Given the description of an element on the screen output the (x, y) to click on. 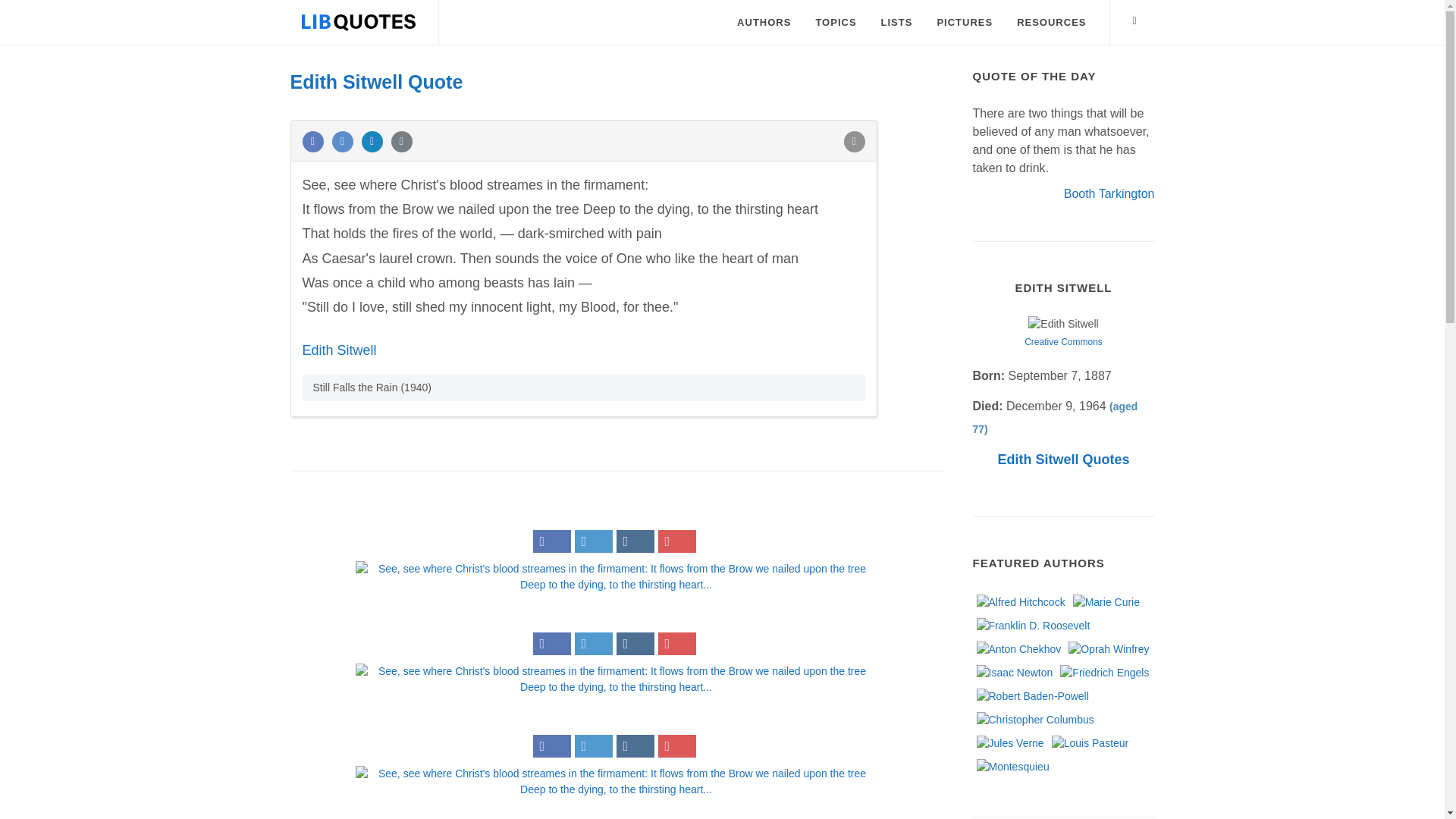
PICTURES (964, 22)
Creative Commons (1063, 341)
Edith Sitwell Quotes (1063, 459)
LISTS (896, 22)
TOPICS (835, 22)
Edith Sitwell (338, 350)
AUTHORS (763, 22)
RESOURCES (1051, 22)
Booth Tarkington (1109, 192)
